Given the description of an element on the screen output the (x, y) to click on. 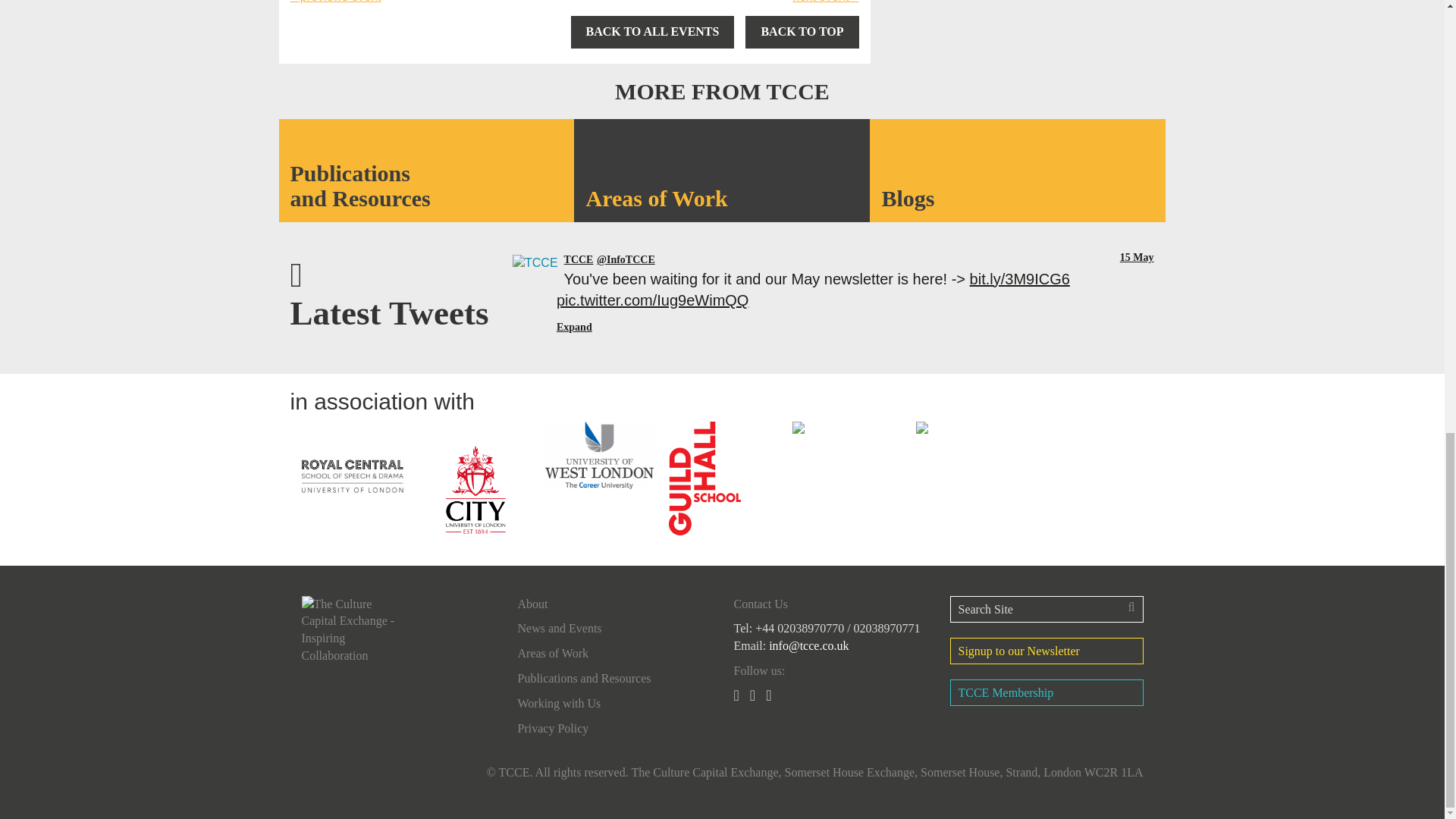
TCCE (534, 259)
TCCE (579, 259)
TCCE (625, 259)
